Given the description of an element on the screen output the (x, y) to click on. 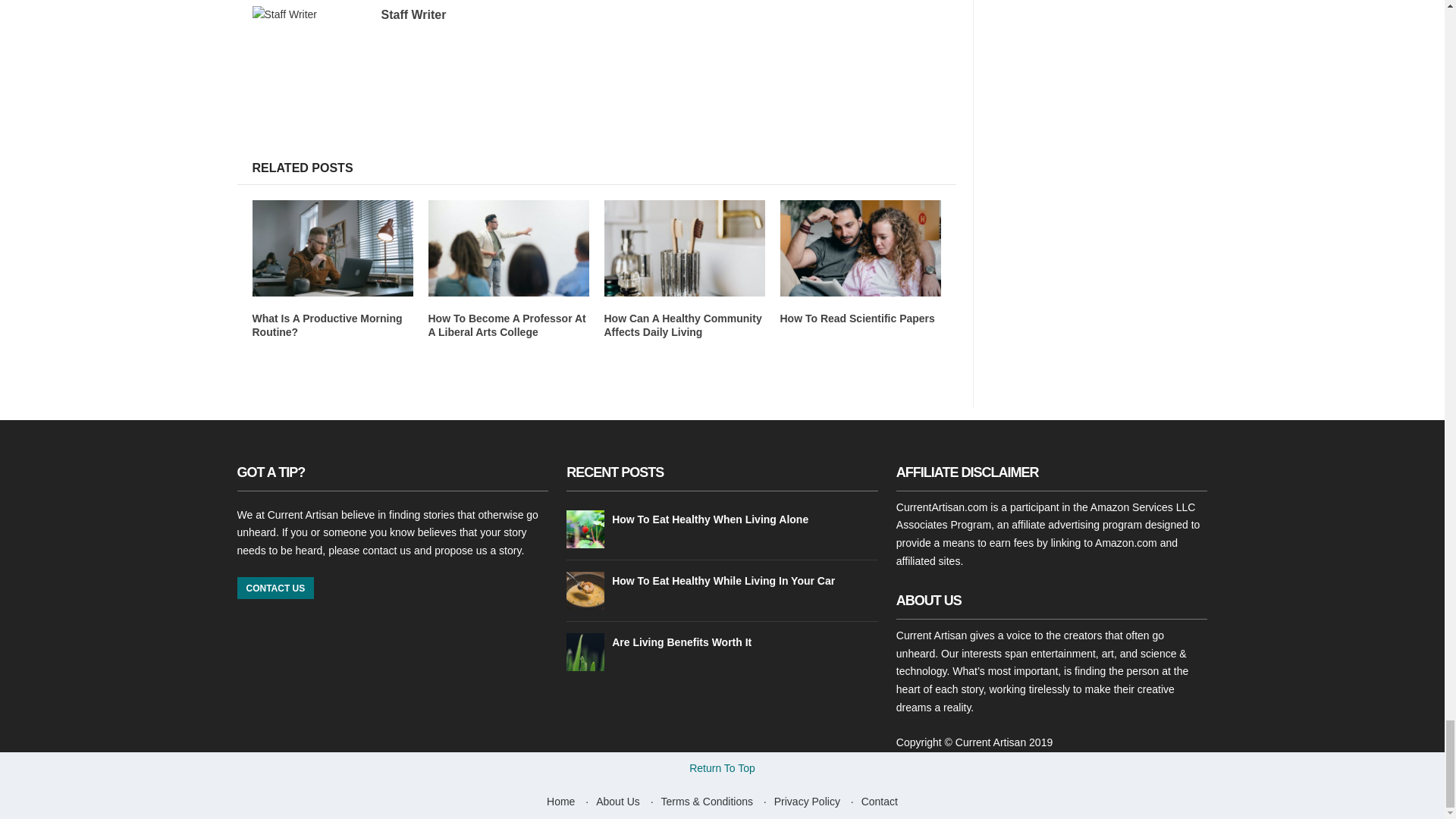
How Can A Healthy Community Affects Daily Living (682, 325)
How To Read Scientific Papers (856, 318)
Staff Writer (412, 14)
What Is A Productive Morning Routine? (326, 325)
How To Become A Professor At A Liberal Arts College (506, 325)
